Given the description of an element on the screen output the (x, y) to click on. 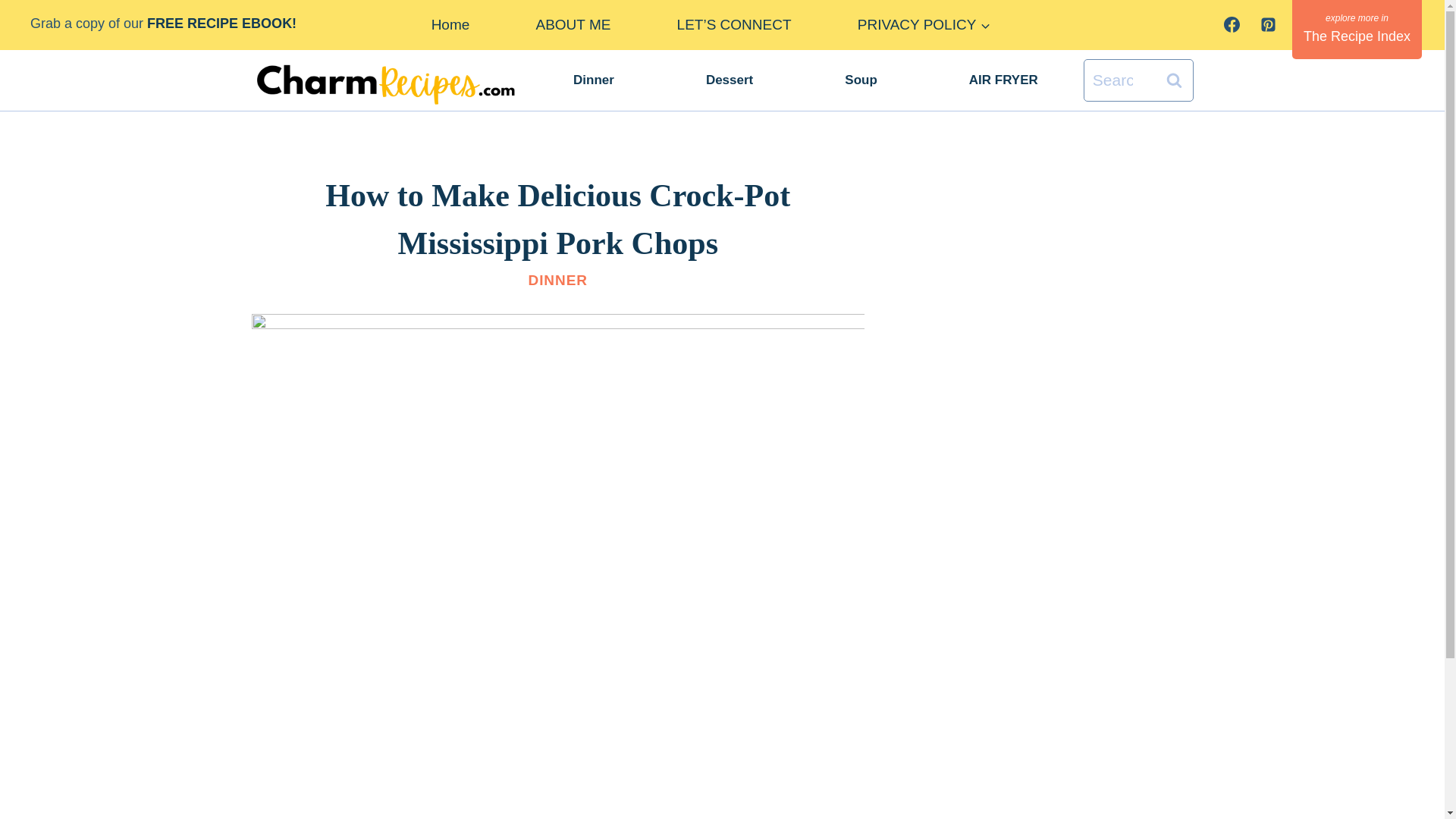
Home (449, 24)
Dinner (594, 79)
Soup (861, 79)
PRIVACY POLICY (923, 24)
Dessert (728, 79)
ABOUT ME (572, 24)
The Recipe Index (1357, 29)
DINNER (557, 279)
AIR FRYER (1003, 79)
FREE RECIPE EBOOK!   (225, 23)
